Given the description of an element on the screen output the (x, y) to click on. 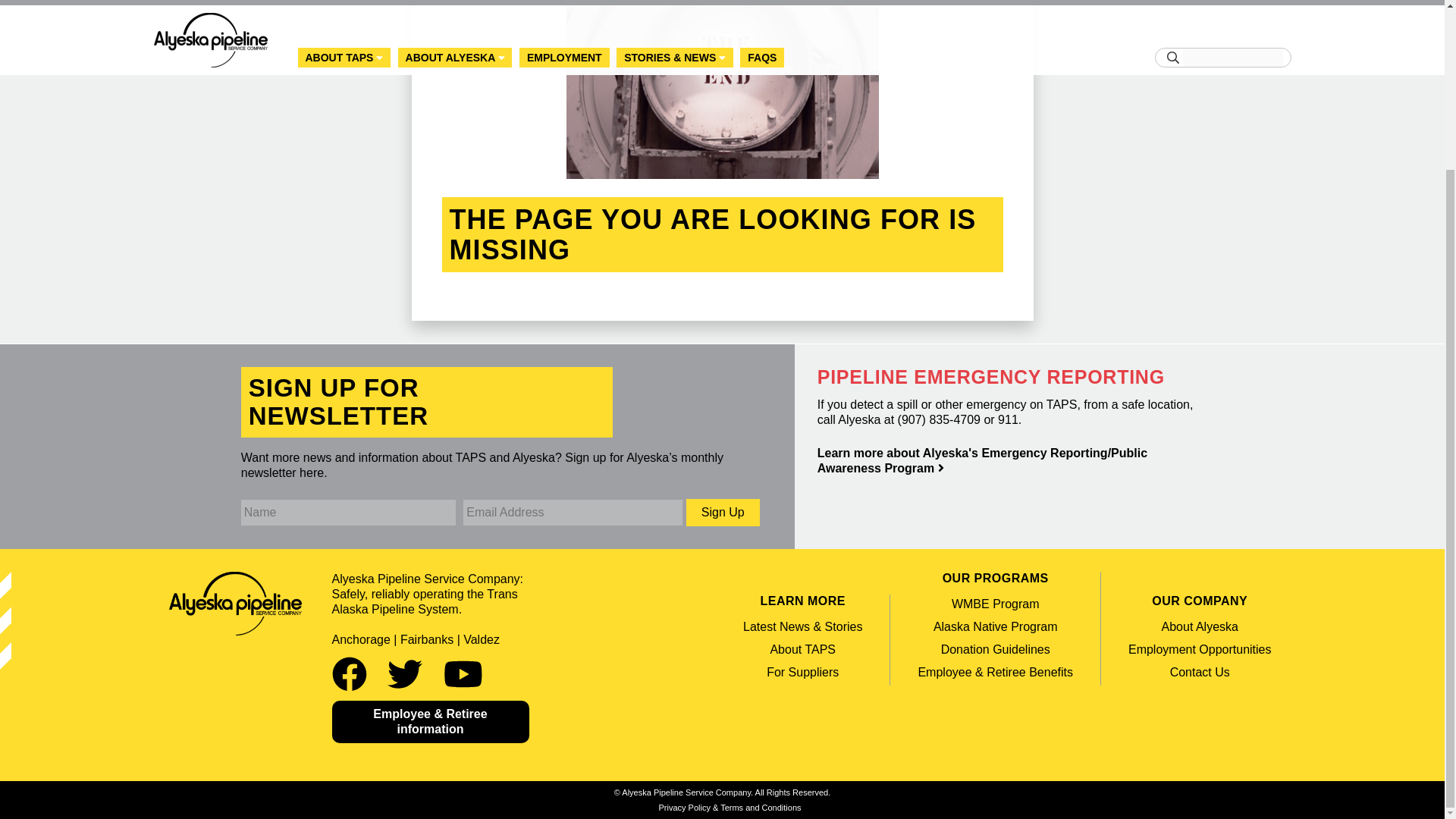
Follow us on Twitter (409, 674)
Sign Up (722, 512)
Join us on Facebook (354, 674)
Subscribe to our YouTube channel (463, 674)
